Given the description of an element on the screen output the (x, y) to click on. 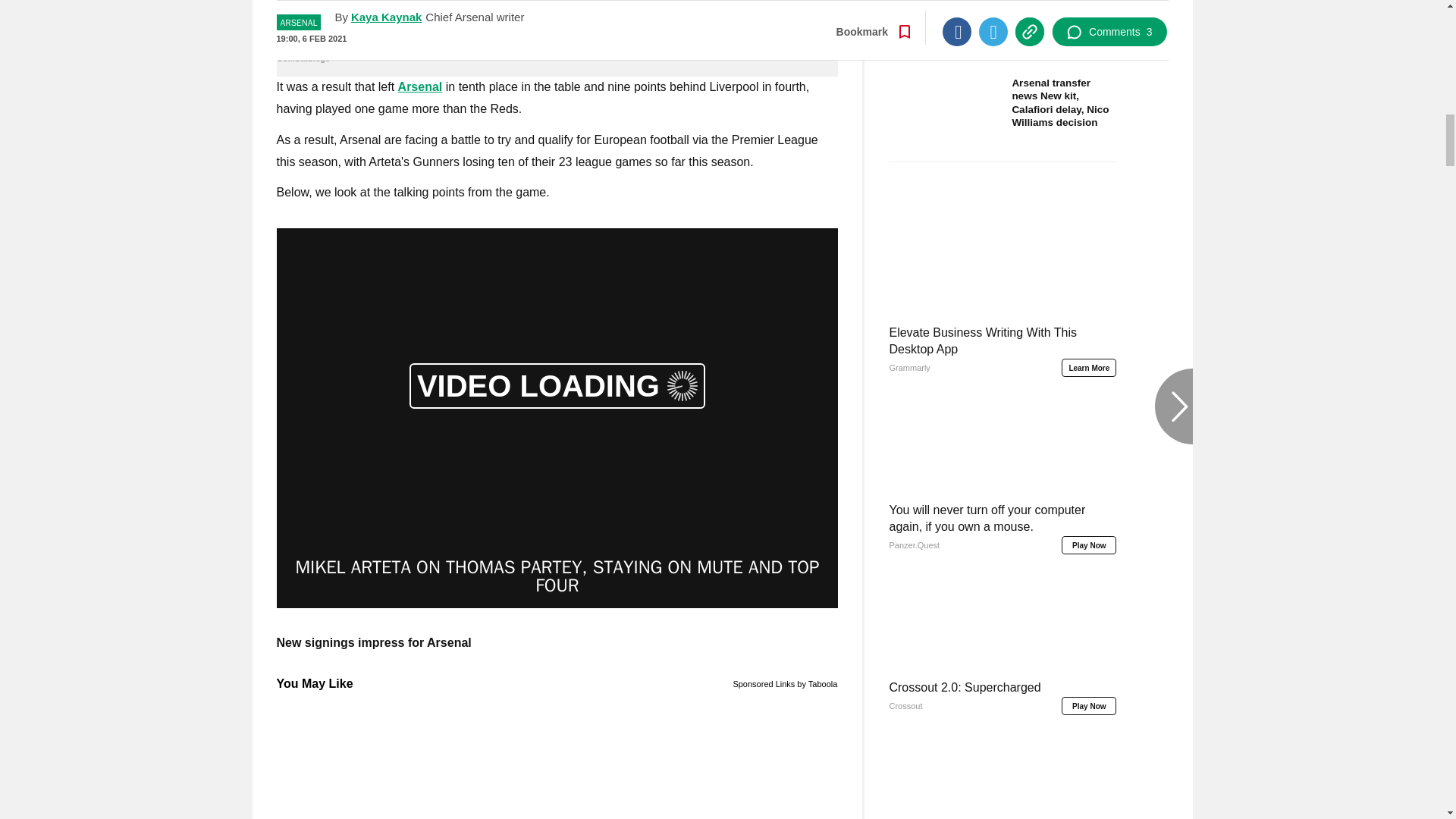
If you own a mouse, play it for 1 minute. (557, 49)
